Given the description of an element on the screen output the (x, y) to click on. 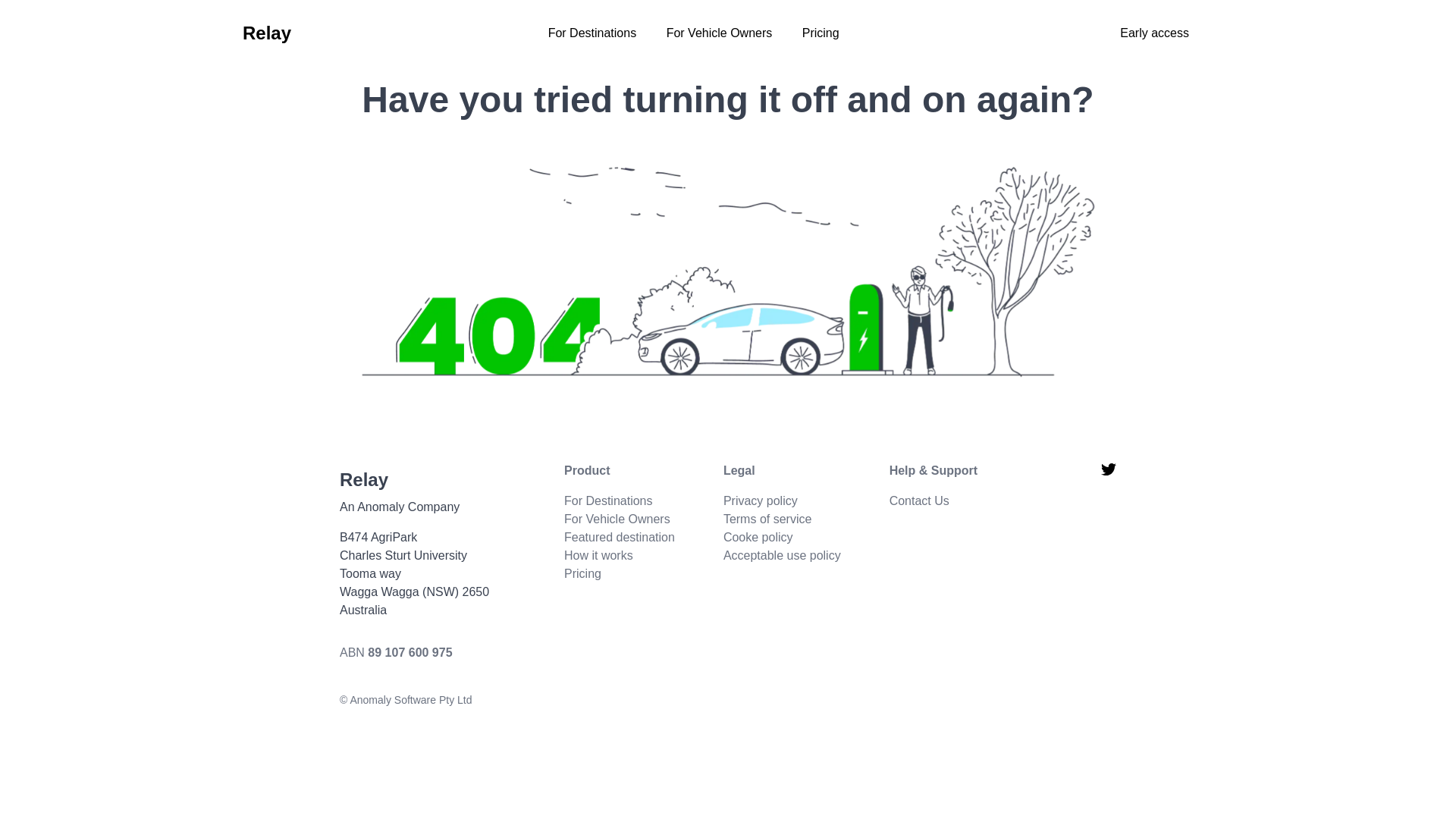
Cooke policy Element type: text (758, 536)
For Vehicle Owners Element type: text (617, 518)
For Destinations Element type: text (608, 500)
Relay Element type: text (266, 33)
Terms of service Element type: text (767, 518)
Privacy policy Element type: text (760, 500)
Contact Us Element type: text (919, 500)
Help & Support Element type: text (933, 470)
Pricing Element type: text (820, 32)
Legal Element type: text (781, 470)
Acceptable use policy Element type: text (781, 555)
Early access Element type: text (1154, 32)
How it works Element type: text (598, 555)
Product Element type: text (619, 470)
For Destinations Element type: text (592, 32)
Featured destination Element type: text (619, 536)
Pricing Element type: text (582, 573)
For Vehicle Owners Element type: text (719, 32)
89 107 600 975 Element type: text (409, 652)
